Given the description of an element on the screen output the (x, y) to click on. 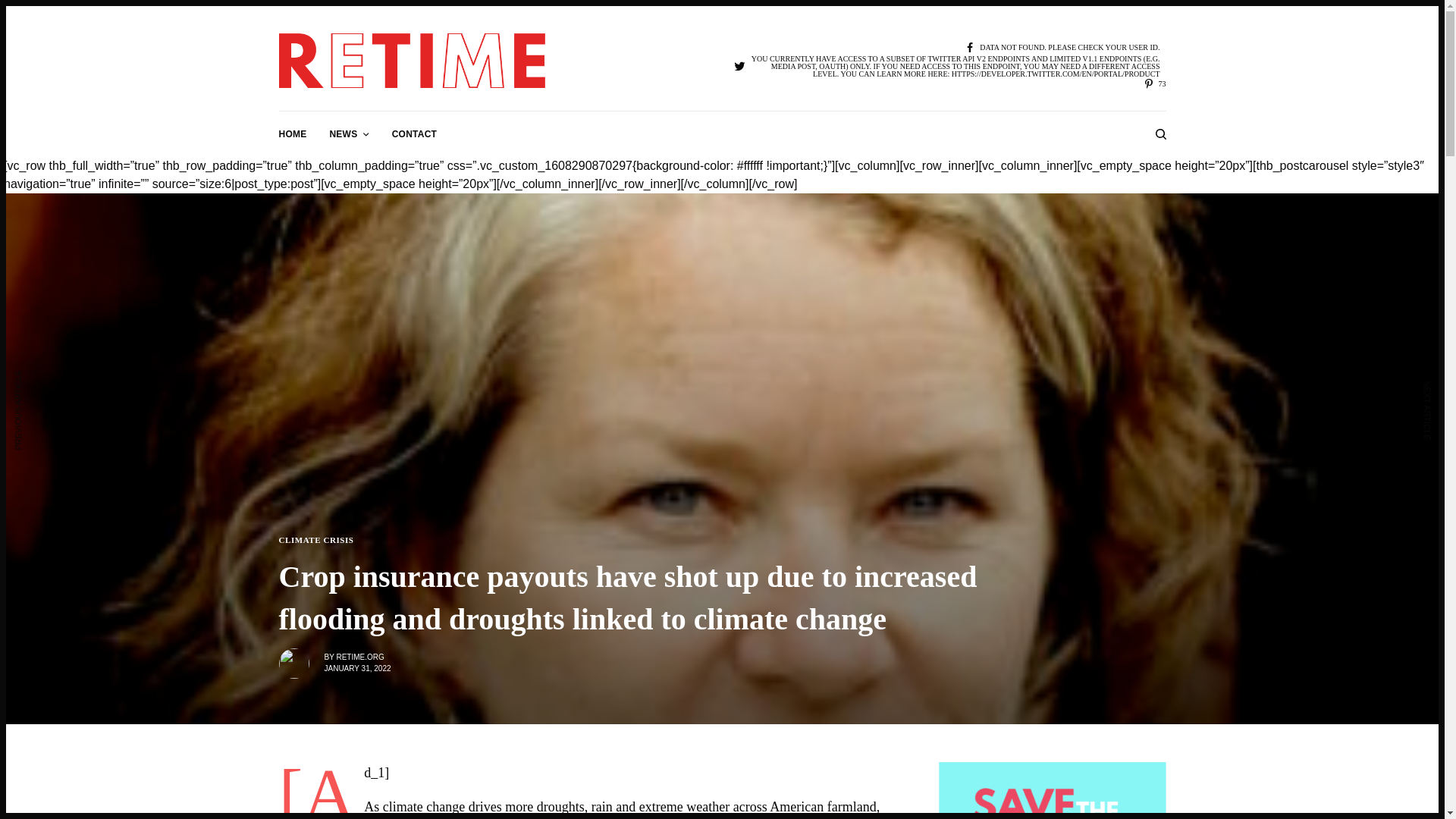
73 (1154, 83)
ReTime (412, 60)
CONTACT (413, 134)
RETIME.ORG (360, 656)
CLIMATE CRISIS (316, 540)
Posts by ReTime.org (360, 656)
DATA NOT FOUND. PLEASE CHECK YOUR USER ID. (1062, 47)
